Given the description of an element on the screen output the (x, y) to click on. 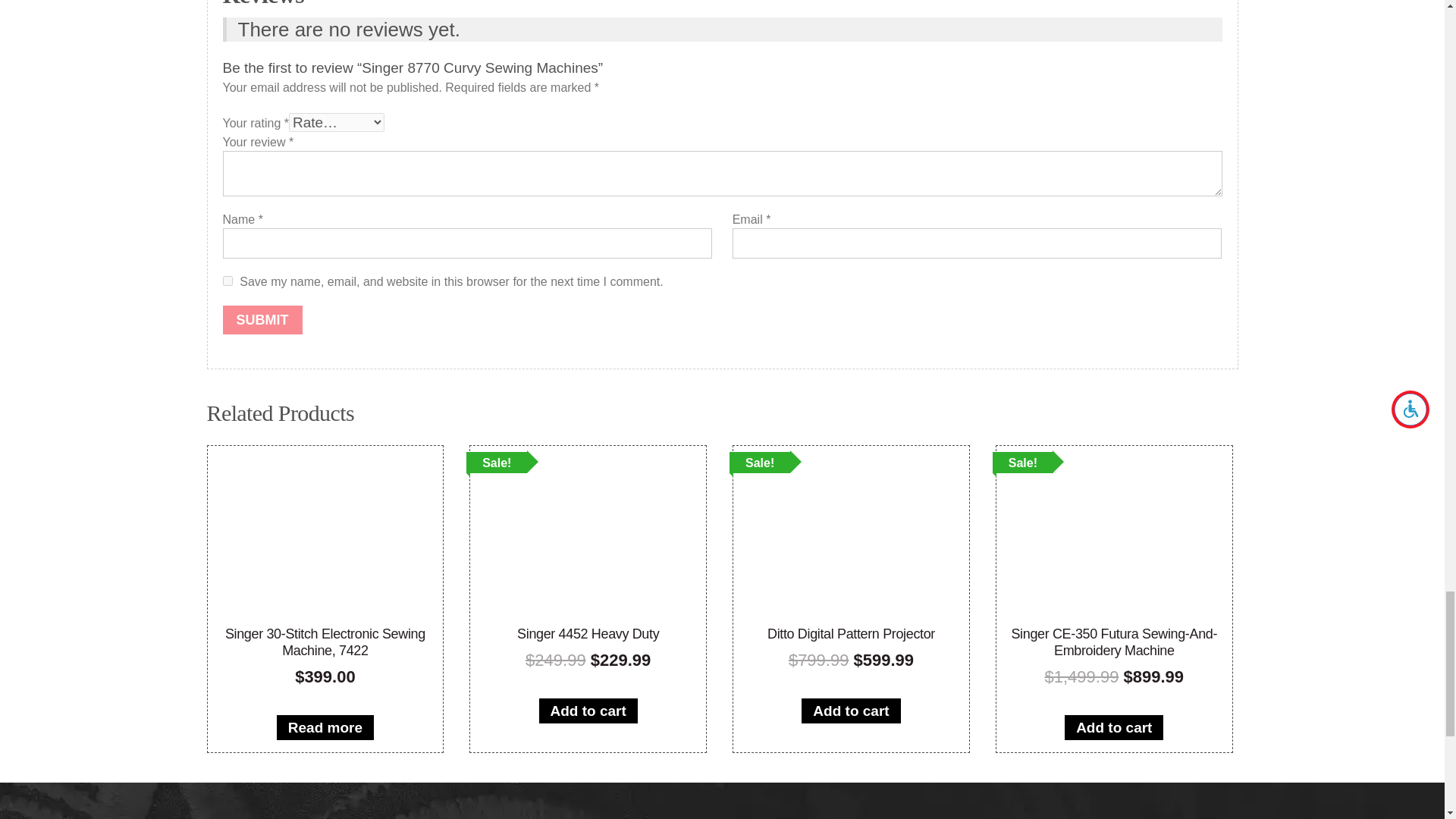
Submit (262, 319)
yes (227, 280)
